Given the description of an element on the screen output the (x, y) to click on. 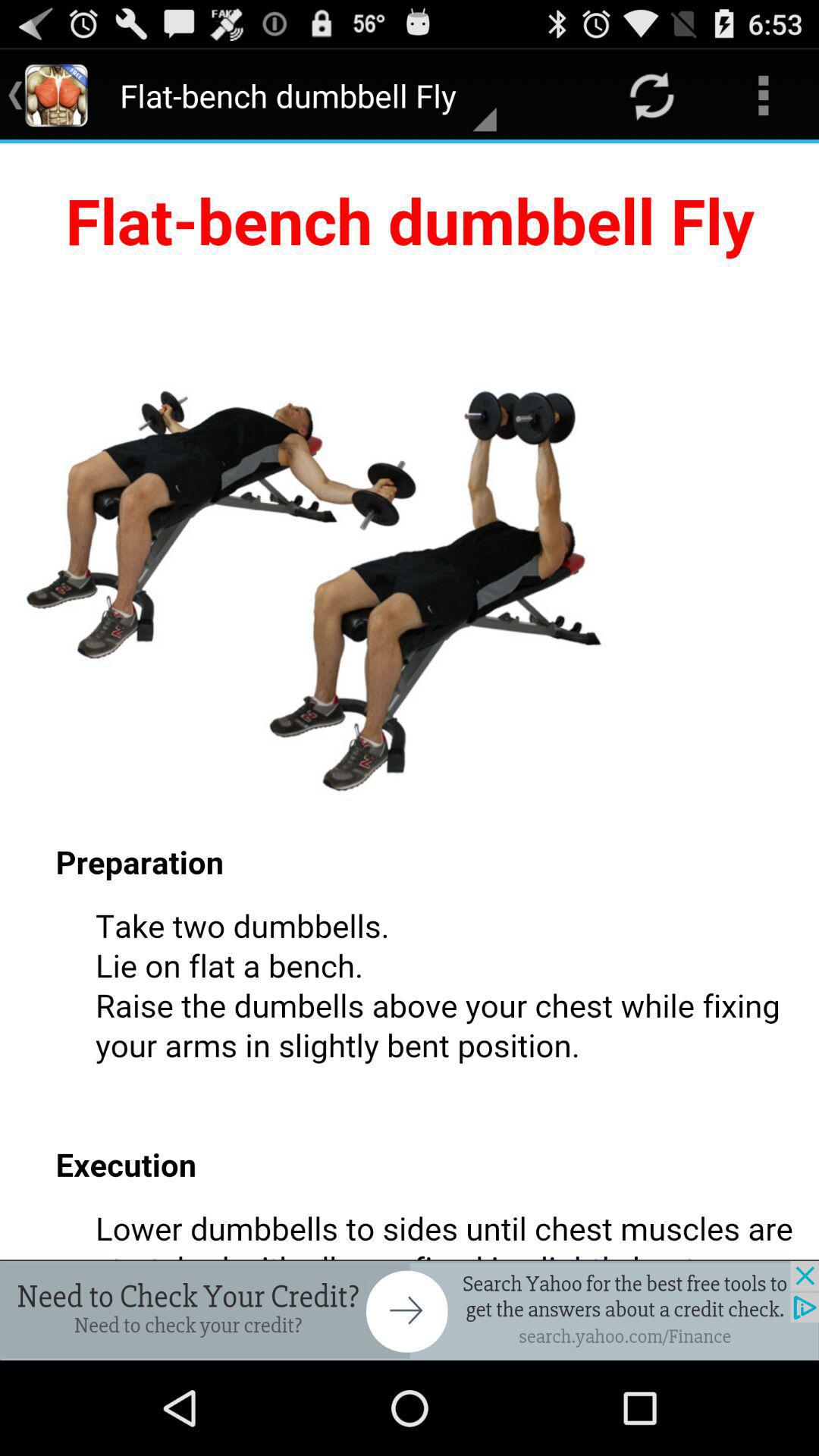
advertisement banner (409, 1310)
